Given the description of an element on the screen output the (x, y) to click on. 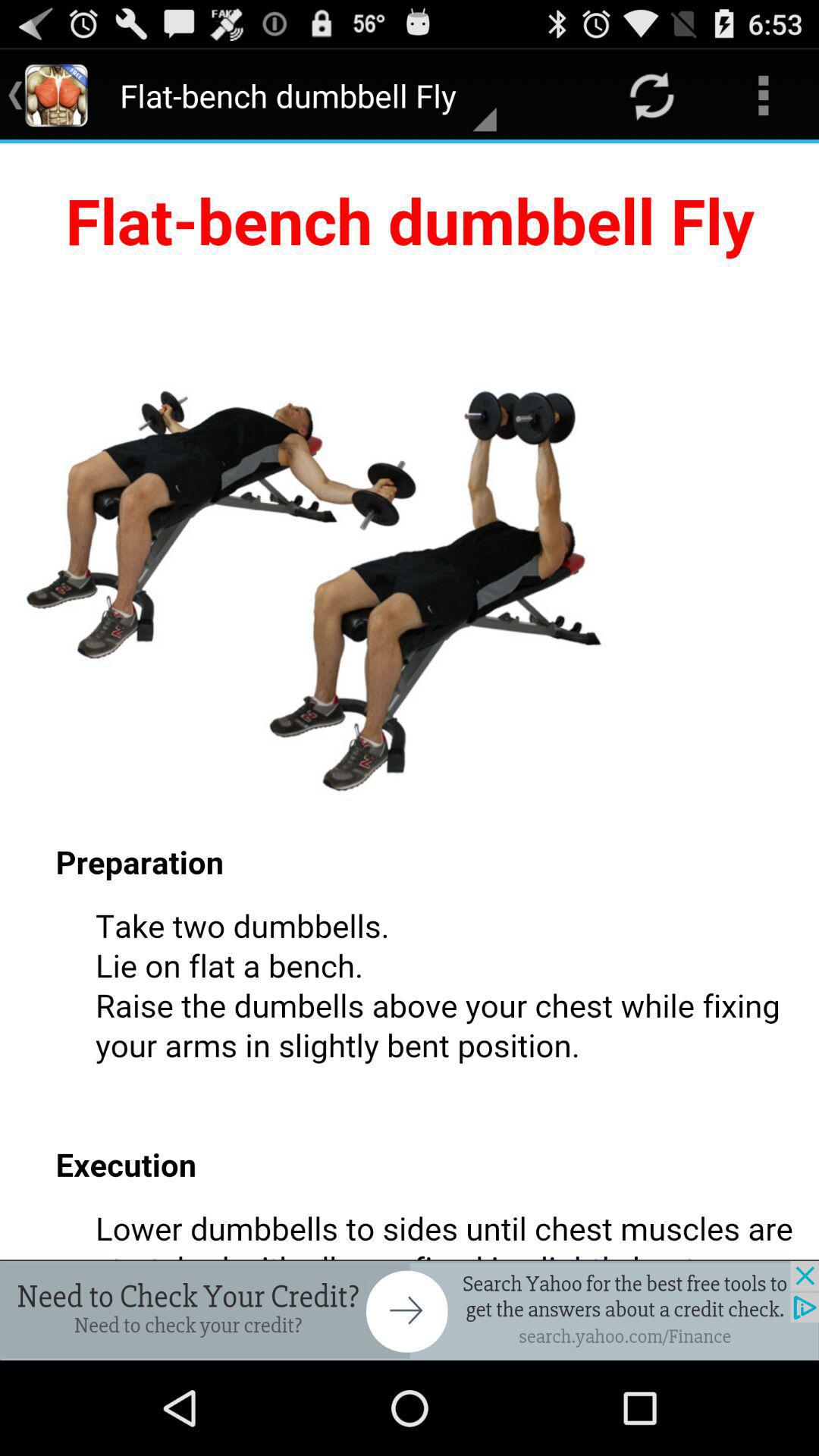
advertisement banner (409, 1310)
